Given the description of an element on the screen output the (x, y) to click on. 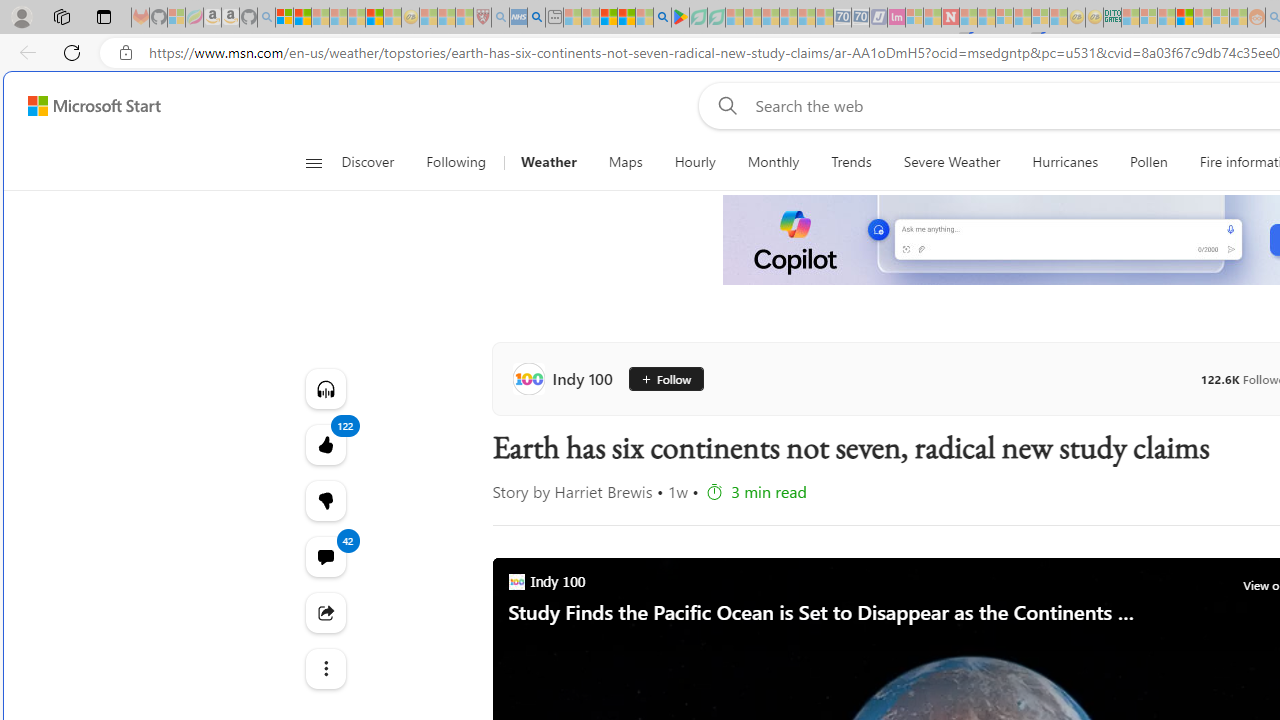
Weather (548, 162)
Maps (625, 162)
122 Like (324, 444)
Follow (666, 378)
Terms of Use Agreement - Sleeping (697, 17)
Bluey: Let's Play! - Apps on Google Play (680, 17)
Trusted Community Engagement and Contributions | Guidelines (968, 17)
Indy 100 (566, 378)
